Given the description of an element on the screen output the (x, y) to click on. 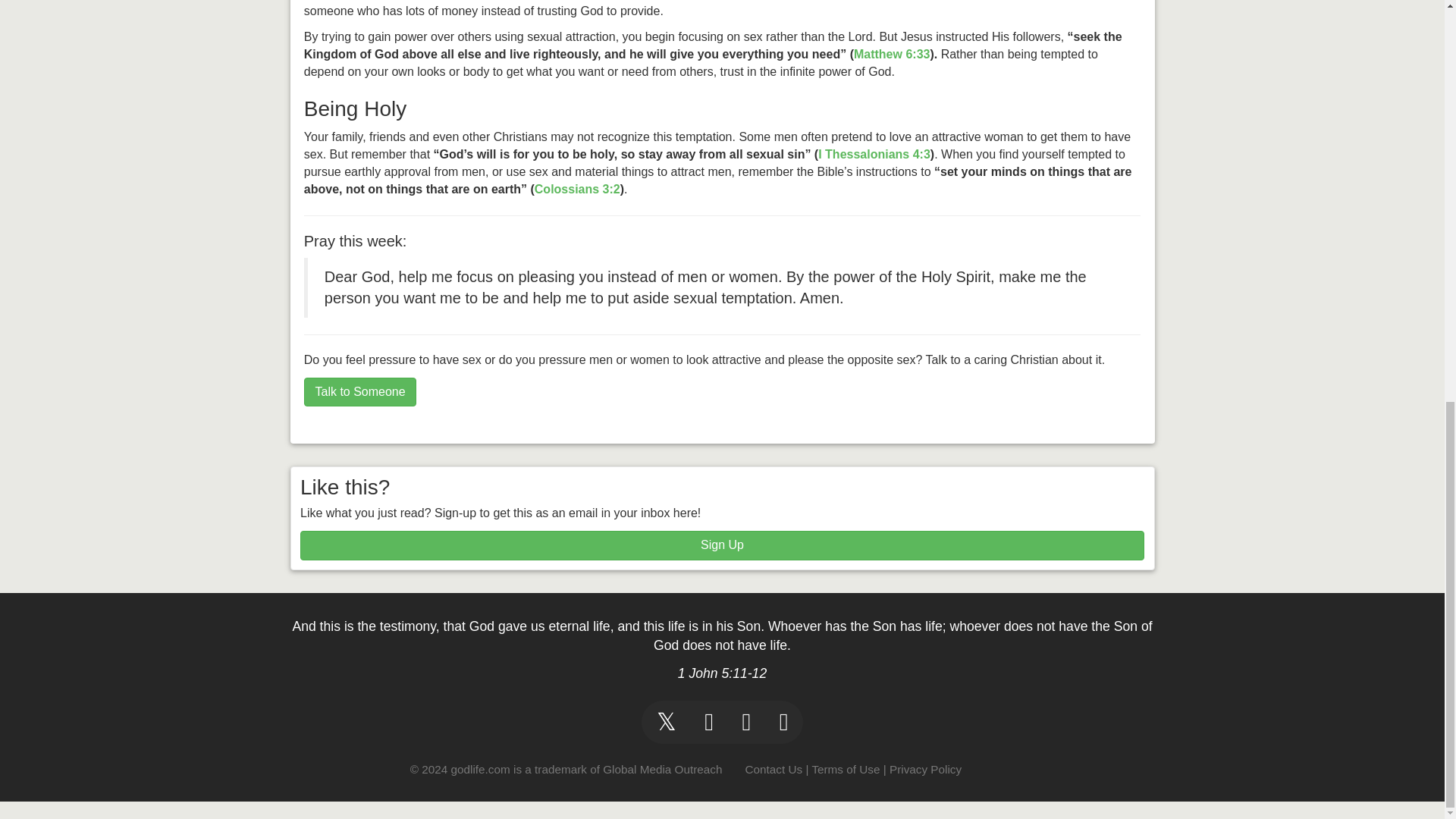
Colossians 3:2 (577, 188)
Matthew 6:33 (891, 53)
I Thessalonians 4:3 (874, 154)
Sign Up (721, 545)
Talk to Someone (360, 392)
